Given the description of an element on the screen output the (x, y) to click on. 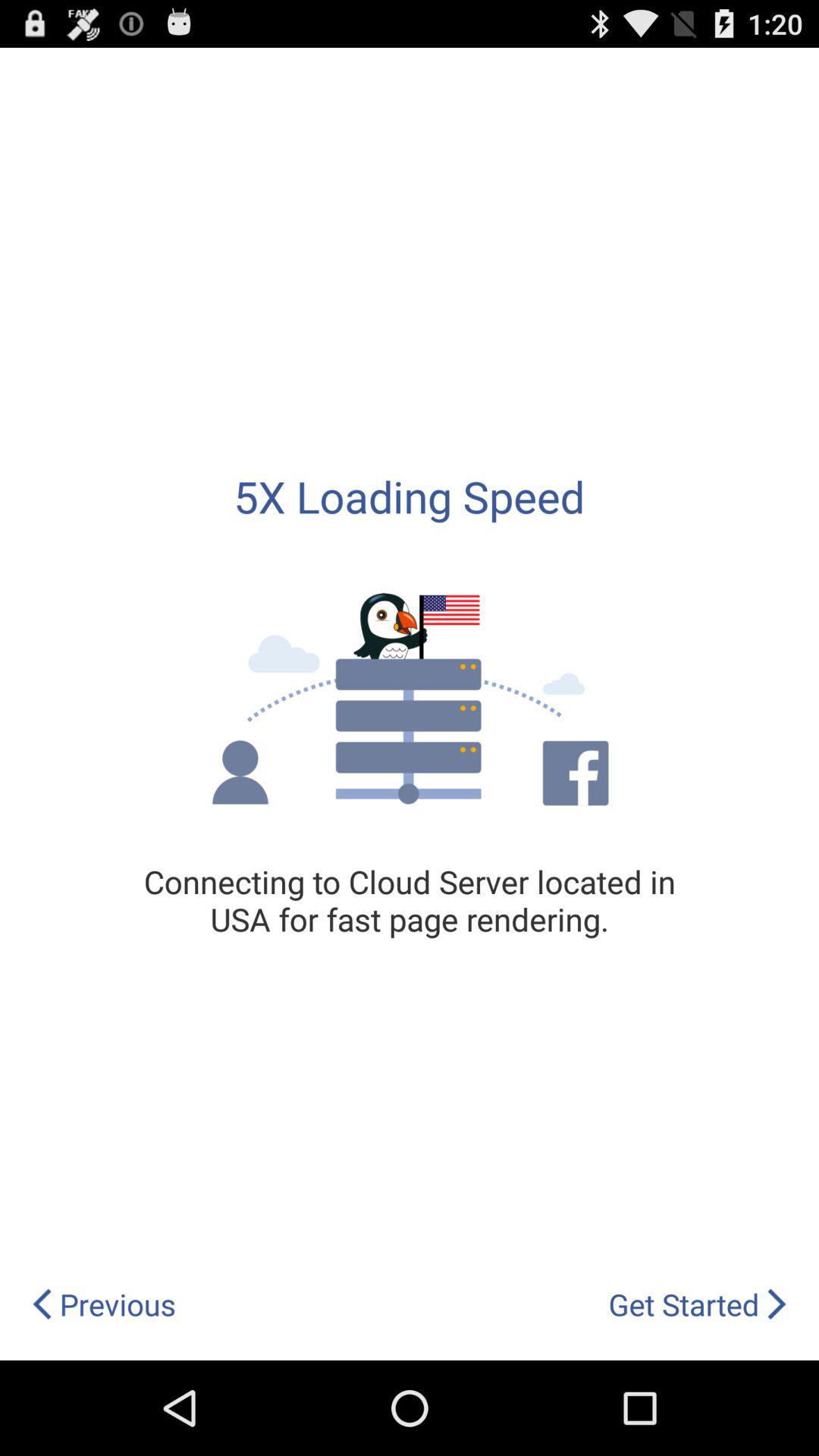
open get started item (697, 1304)
